Given the description of an element on the screen output the (x, y) to click on. 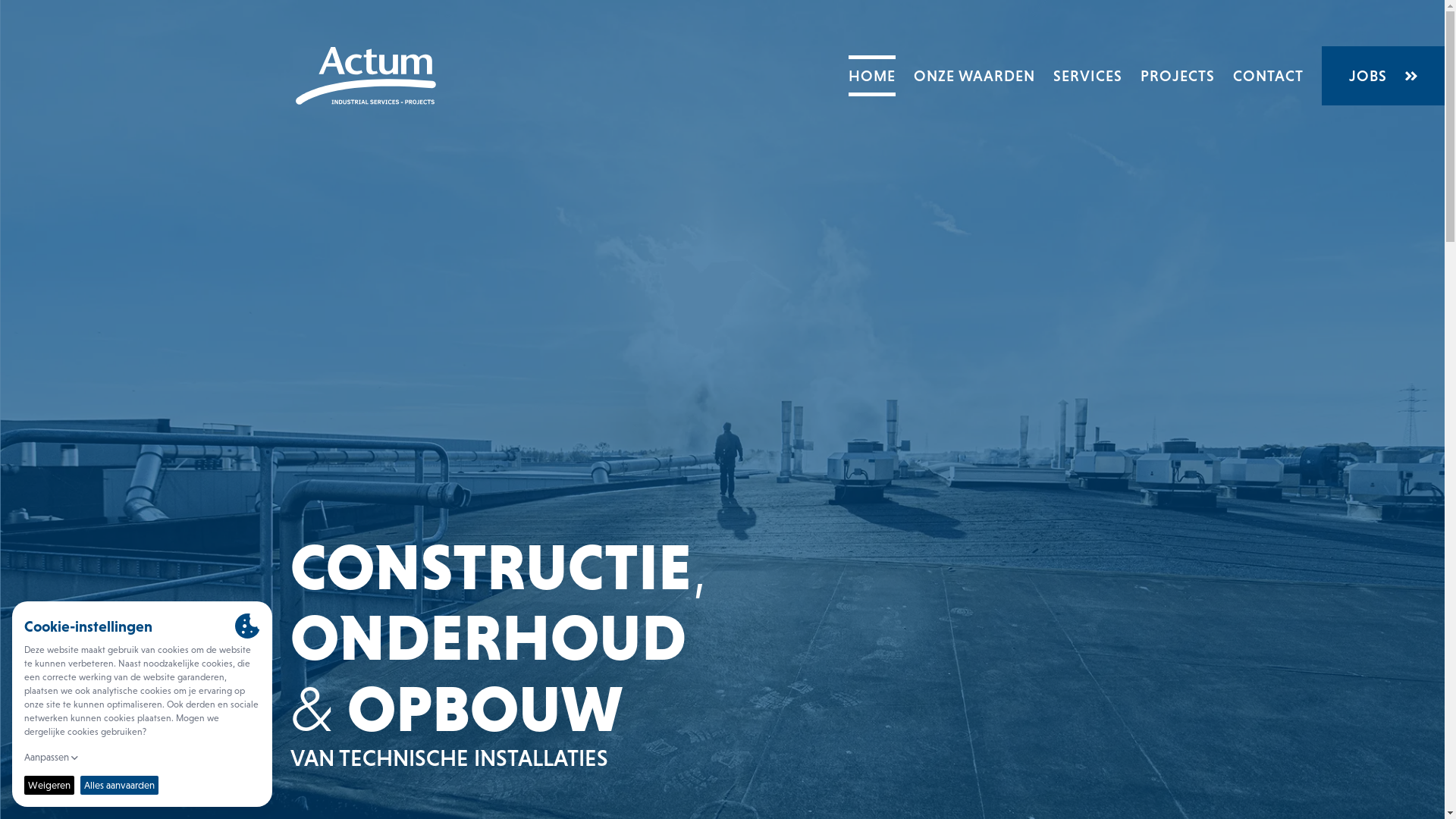
SERVICES Element type: text (1087, 75)
HOME Element type: text (871, 75)
PROJECTS Element type: text (1177, 75)
JOBS Element type: text (1382, 75)
ONZE WAARDEN Element type: text (974, 75)
CONTACT Element type: text (1268, 75)
